Given the description of an element on the screen output the (x, y) to click on. 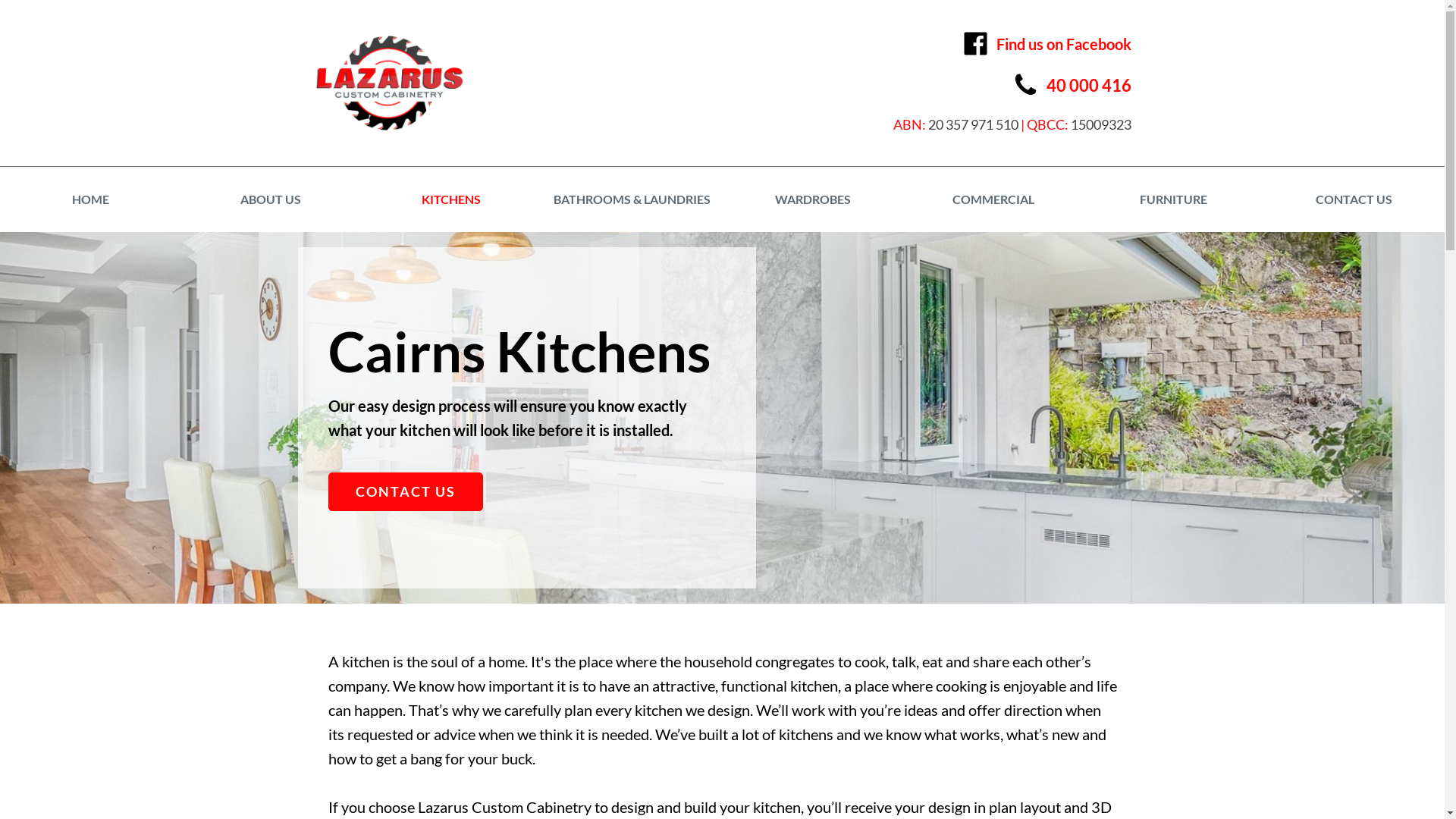
BATHROOMS & LAUNDRIES Element type: text (631, 199)
COMMERCIAL Element type: text (993, 199)
WARDROBES Element type: text (811, 199)
ABOUT US Element type: text (270, 199)
KITCHENS Element type: text (450, 199)
Find us on Facebook Element type: text (1046, 43)
HOME Element type: text (90, 199)
FURNITURE Element type: text (1173, 199)
CONTACT US Element type: text (1354, 199)
40 000 416 Element type: text (1071, 85)
CONTACT US Element type: text (404, 491)
